Given the description of an element on the screen output the (x, y) to click on. 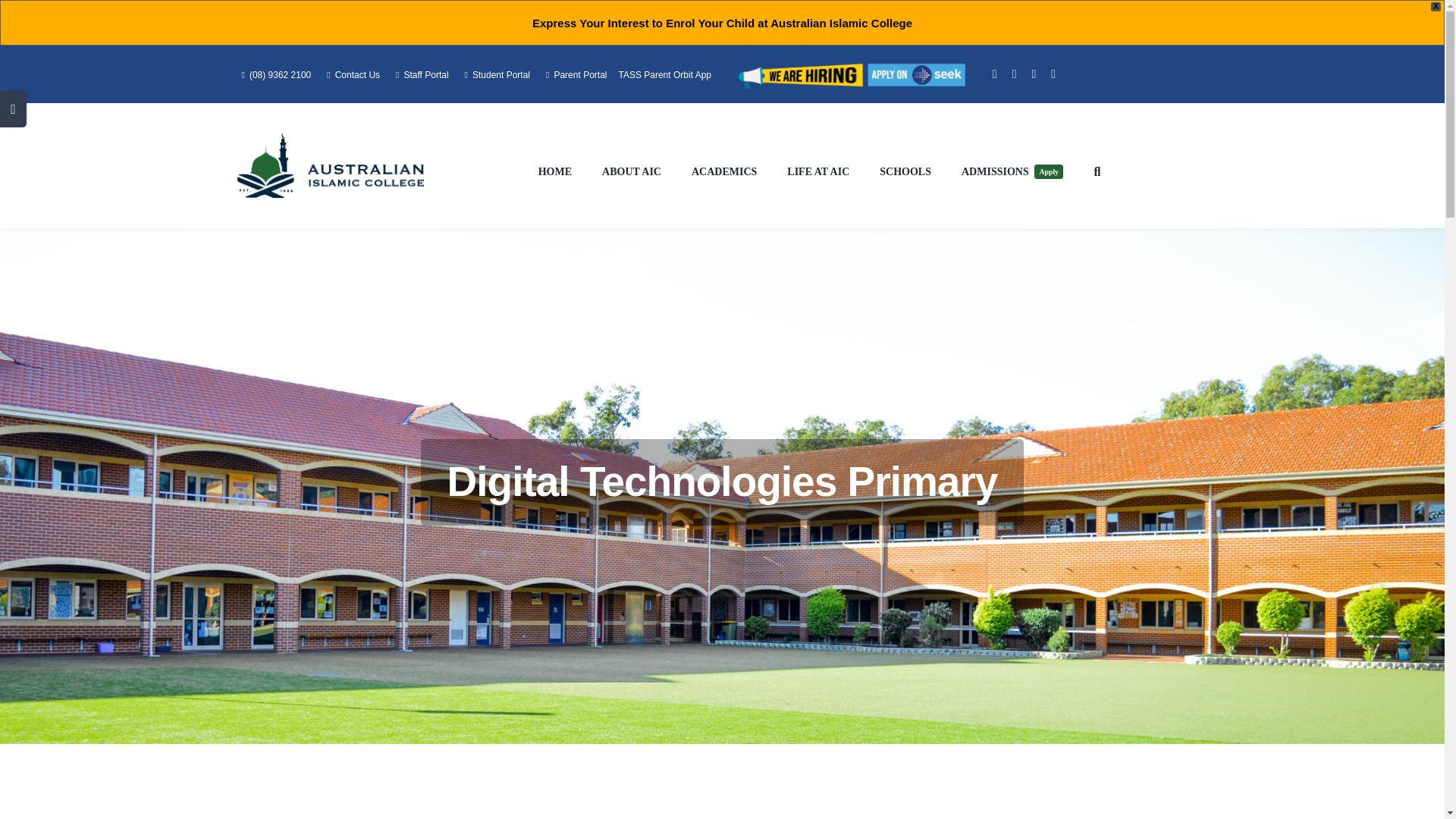
HOME (555, 171)
LIFE AT AIC (817, 171)
ACADEMICS (724, 171)
Student Portal (494, 74)
ABOUT AIC (631, 171)
Contact Us (350, 74)
TASS Parent Orbit App (664, 74)
Parent Portal (574, 74)
Staff Portal (419, 74)
